Given the description of an element on the screen output the (x, y) to click on. 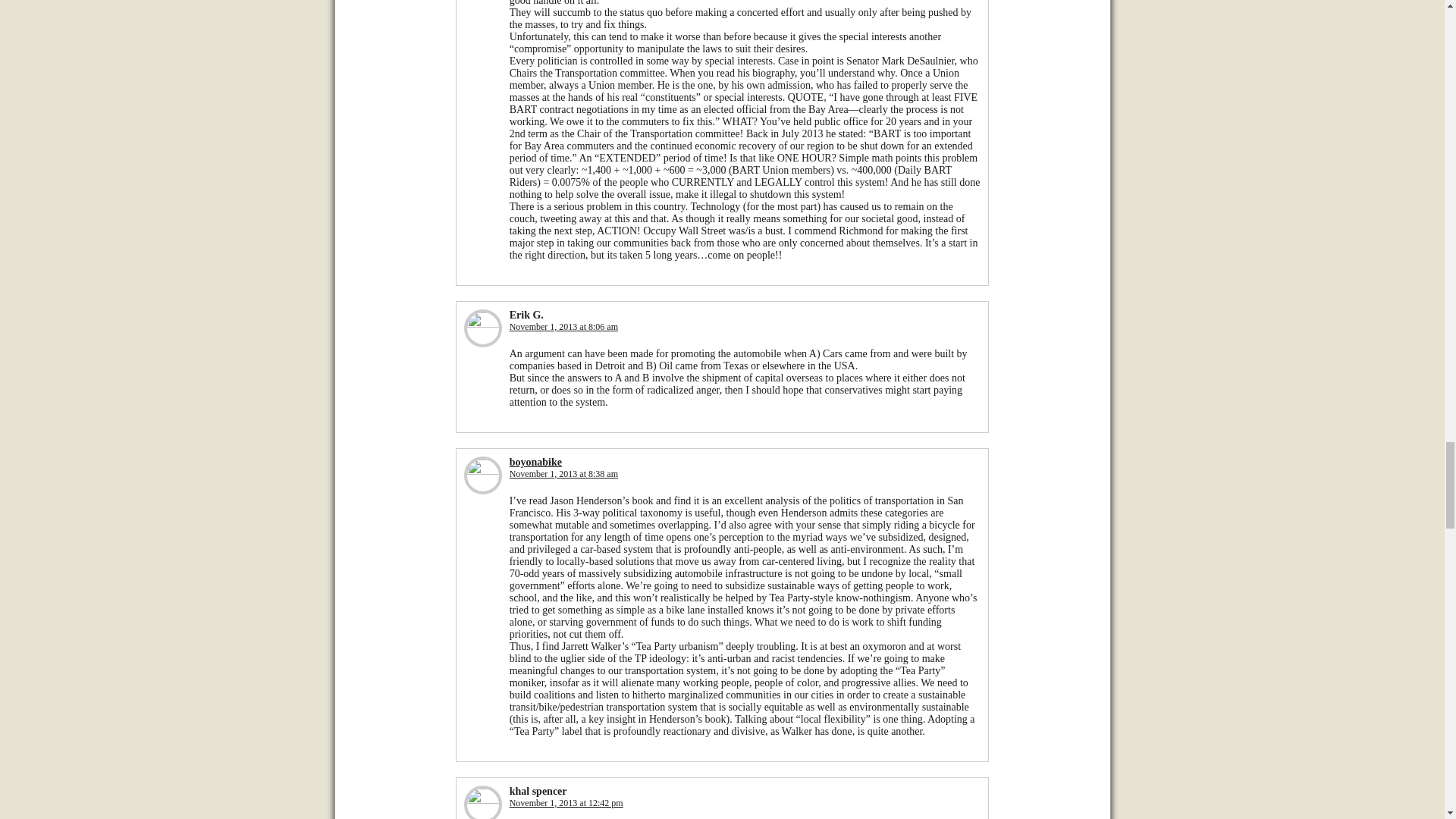
boyonabike (535, 461)
November 1, 2013 at 8:06 am (563, 326)
